Given the description of an element on the screen output the (x, y) to click on. 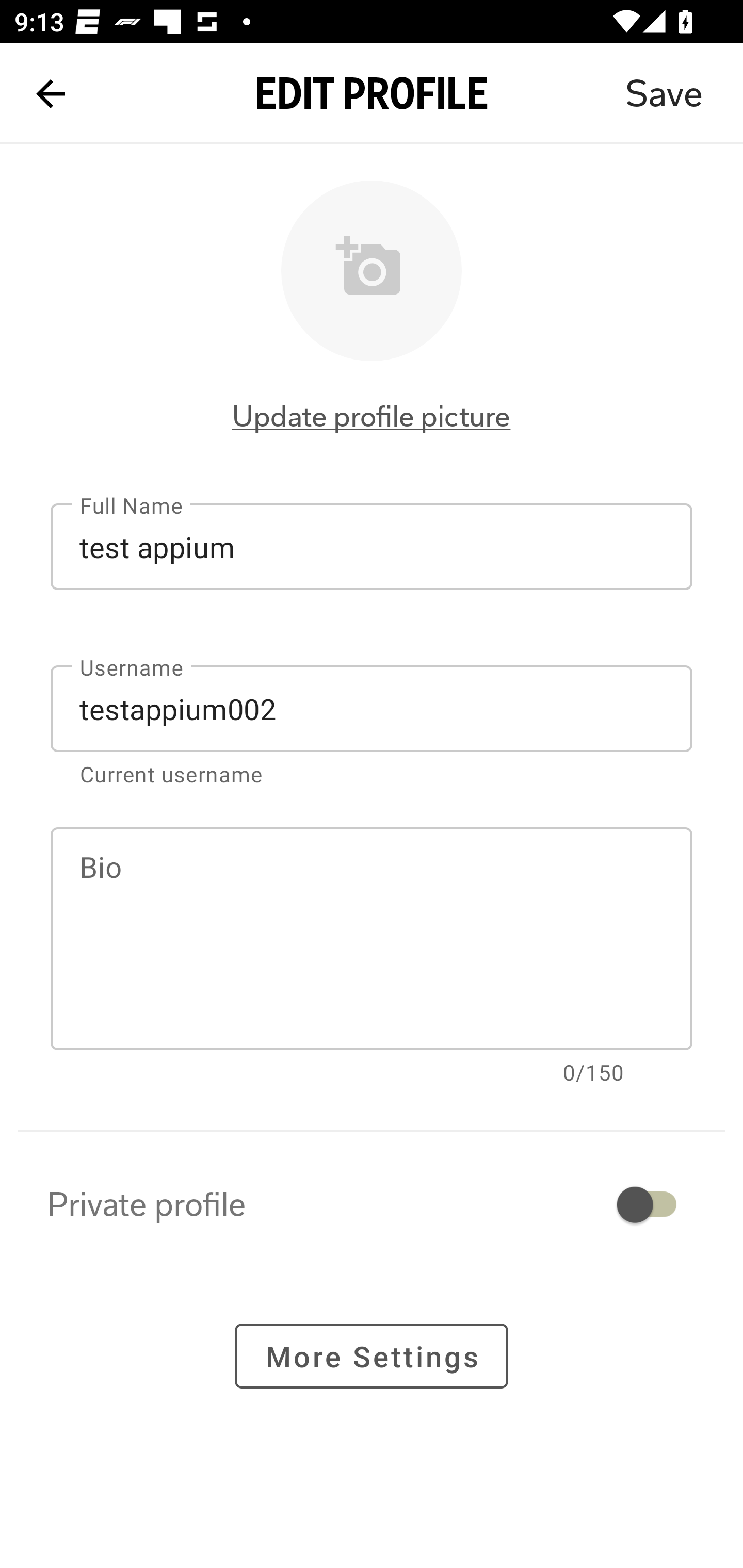
Back (50, 93)
Save (663, 93)
Update profile picture (371, 415)
test appium (371, 546)
testappium002 (371, 708)
Bio (371, 938)
Private profile (371, 1204)
More Settings (371, 1355)
